Given the description of an element on the screen output the (x, y) to click on. 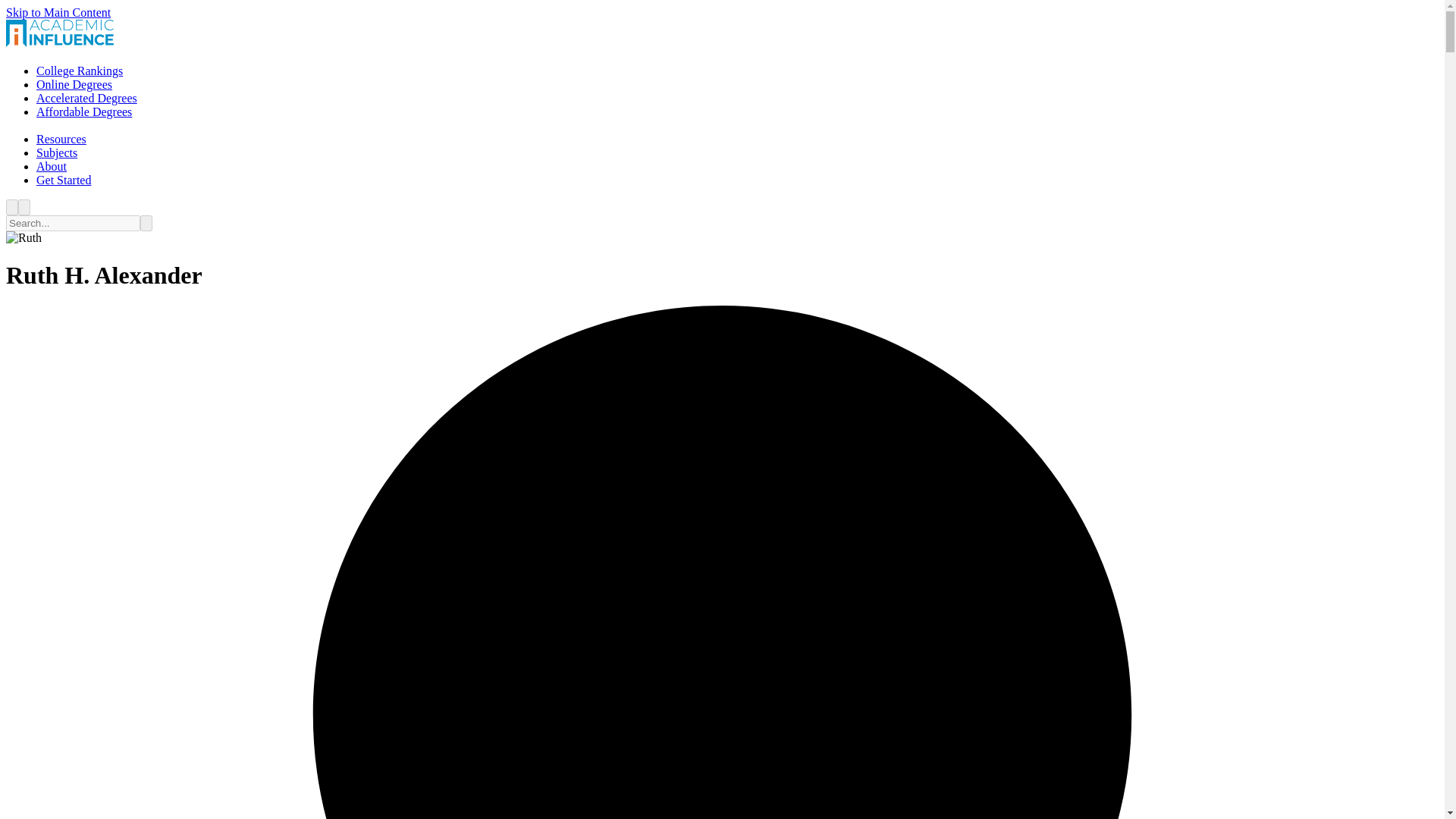
Affordable Degrees (84, 111)
About (51, 165)
Resources (60, 138)
open or close mobile navigation menu (23, 207)
Subjects (56, 152)
Skip to Main Content (57, 11)
Get Started (63, 179)
College Rankings (79, 70)
search academicinfluence.com (11, 207)
Accelerated Degrees (86, 97)
Online Degrees (74, 83)
